Given the description of an element on the screen output the (x, y) to click on. 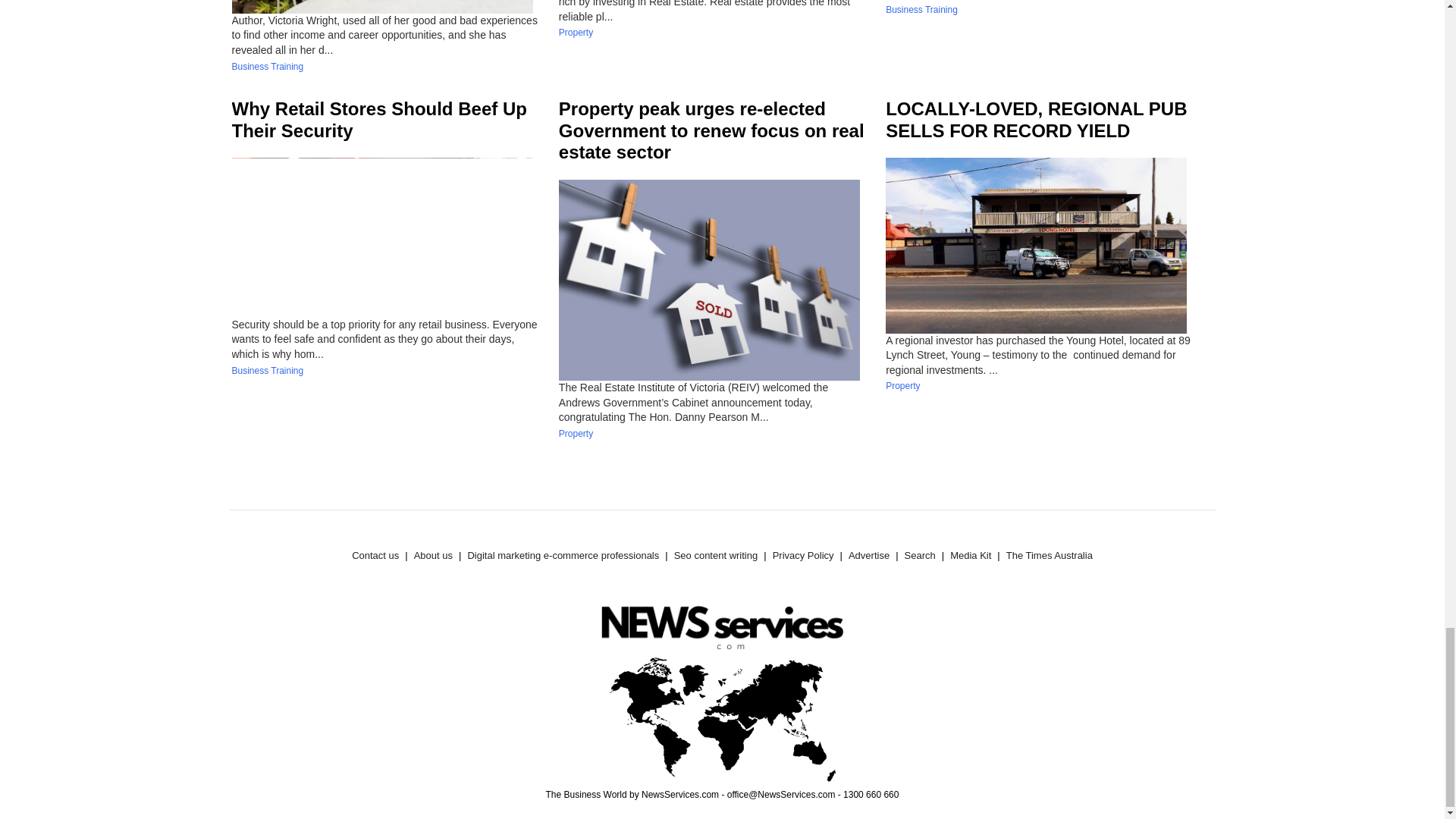
Business Training (267, 370)
Business Training (267, 66)
Property (575, 32)
LOCALLY-LOVED, REGIONAL PUB SELLS FOR RECORD YIELD (1035, 119)
Business Training (921, 9)
Why Retail Stores Should Beef Up Their Security (379, 119)
Why Retail Stores Should Beef Up Their Security (379, 119)
